Given the description of an element on the screen output the (x, y) to click on. 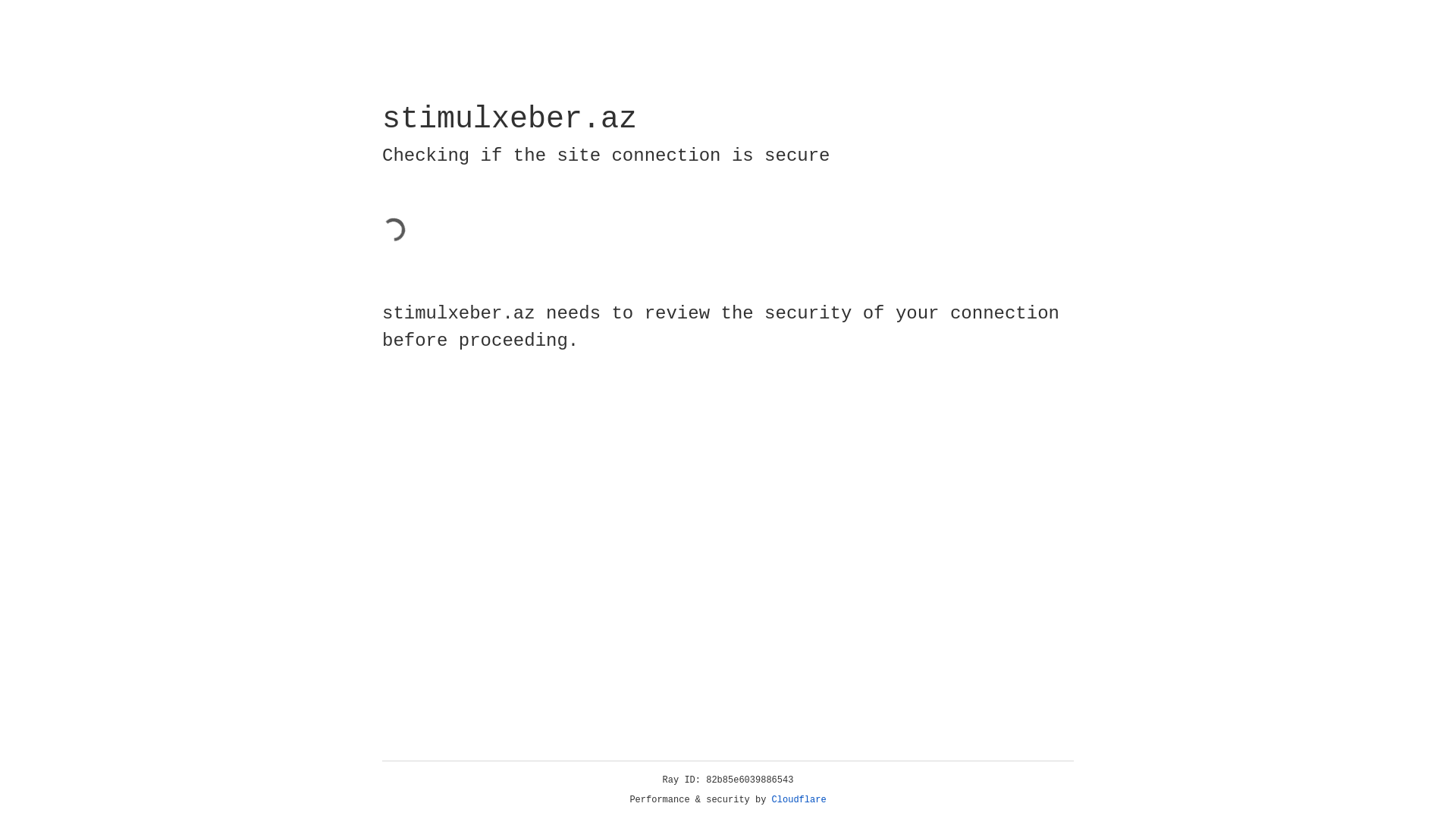
Cloudflare Element type: text (798, 799)
